Given the description of an element on the screen output the (x, y) to click on. 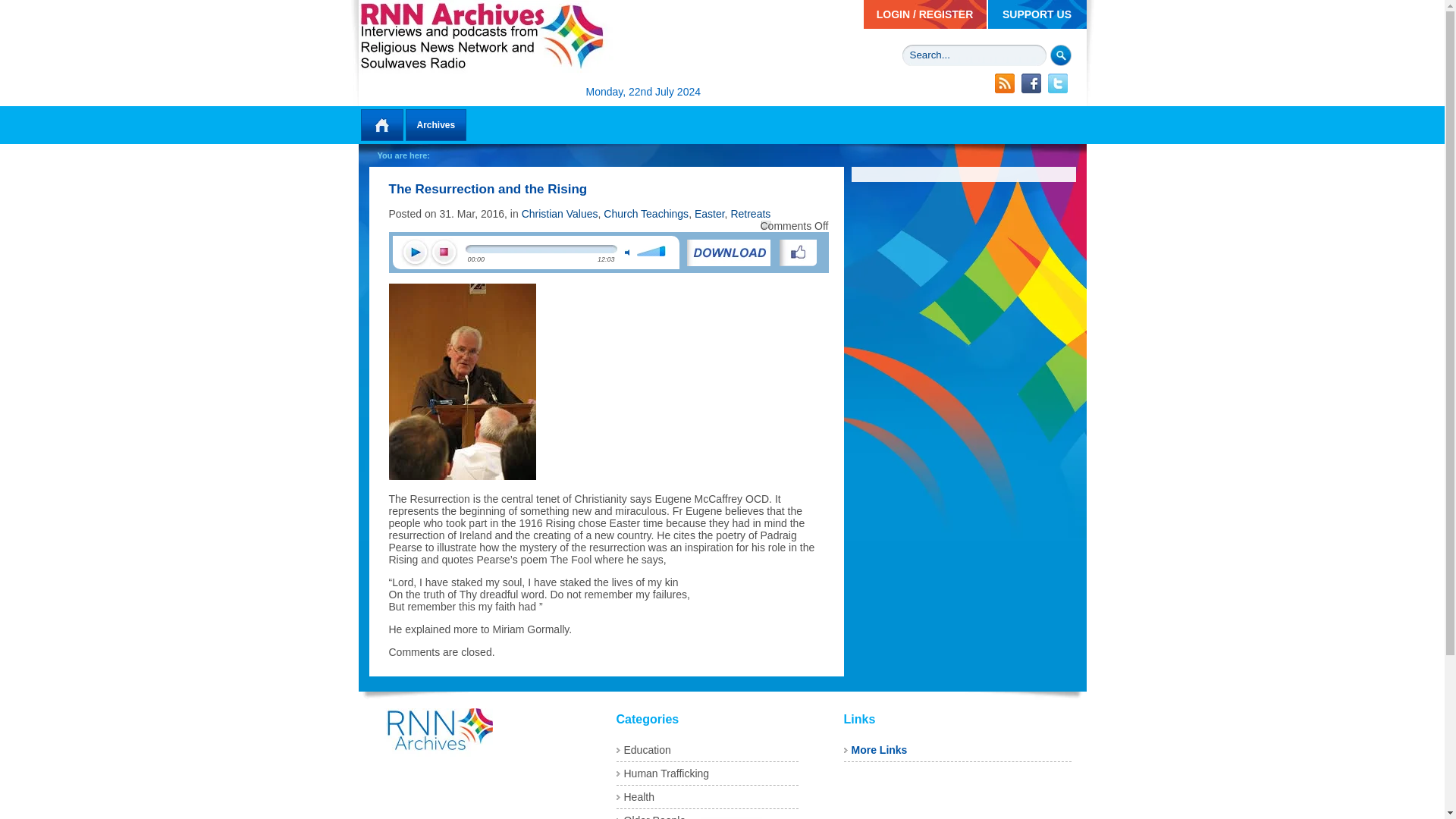
View all posts in Health (638, 797)
Archives (435, 124)
Home (381, 124)
Health (638, 797)
View all posts in Human Trafficking (666, 773)
View all posts in Older People (654, 816)
Submit (1059, 55)
Human Trafficking (666, 773)
play (414, 252)
Church Teachings (646, 214)
stop (443, 252)
Education (646, 749)
Older People (654, 816)
Search... (974, 55)
Christian Values (559, 214)
